Given the description of an element on the screen output the (x, y) to click on. 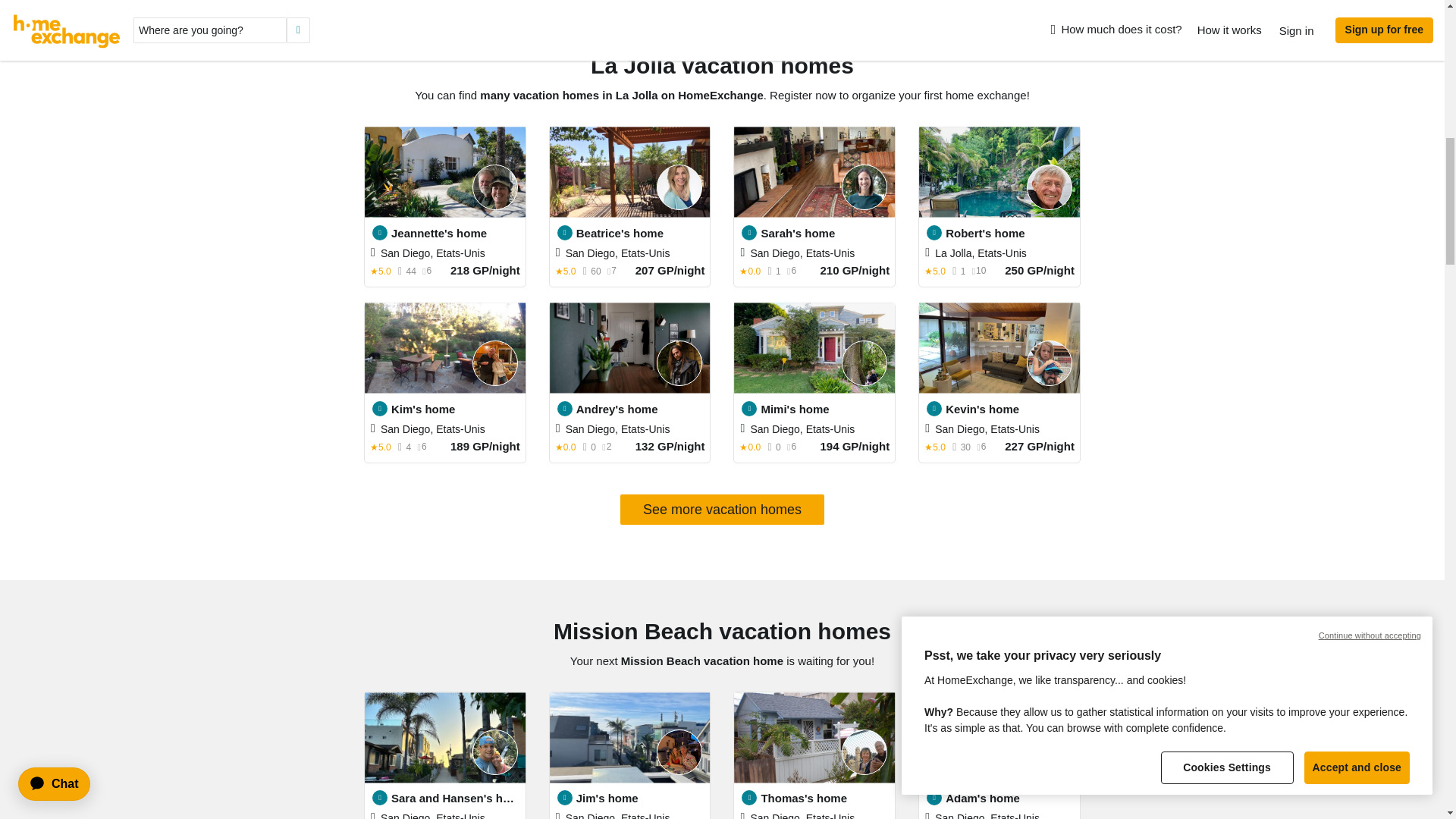
Robert's home (1007, 233)
Beatrice's home (639, 233)
Kim's home (454, 409)
Jeannette's home (454, 233)
Sarah's home (823, 233)
